Given the description of an element on the screen output the (x, y) to click on. 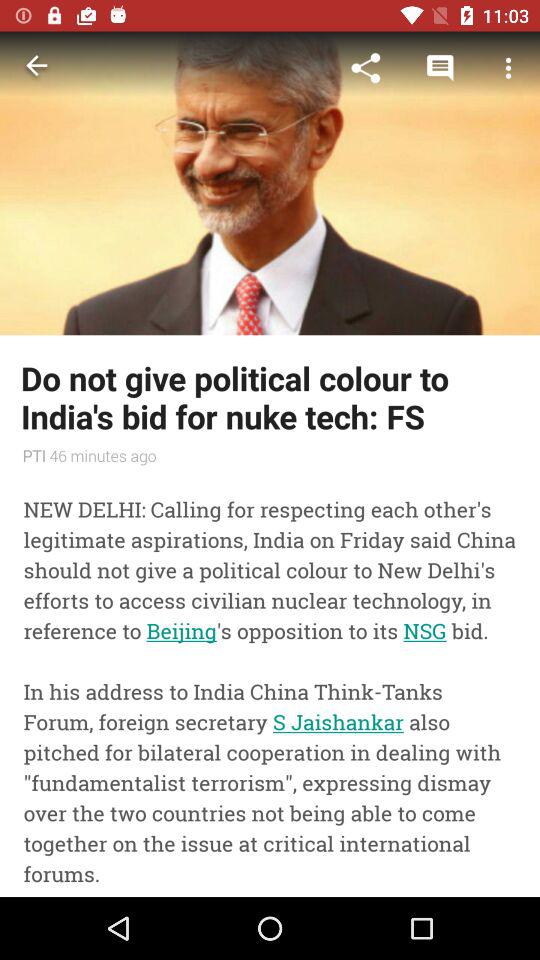
previous page (36, 68)
